Given the description of an element on the screen output the (x, y) to click on. 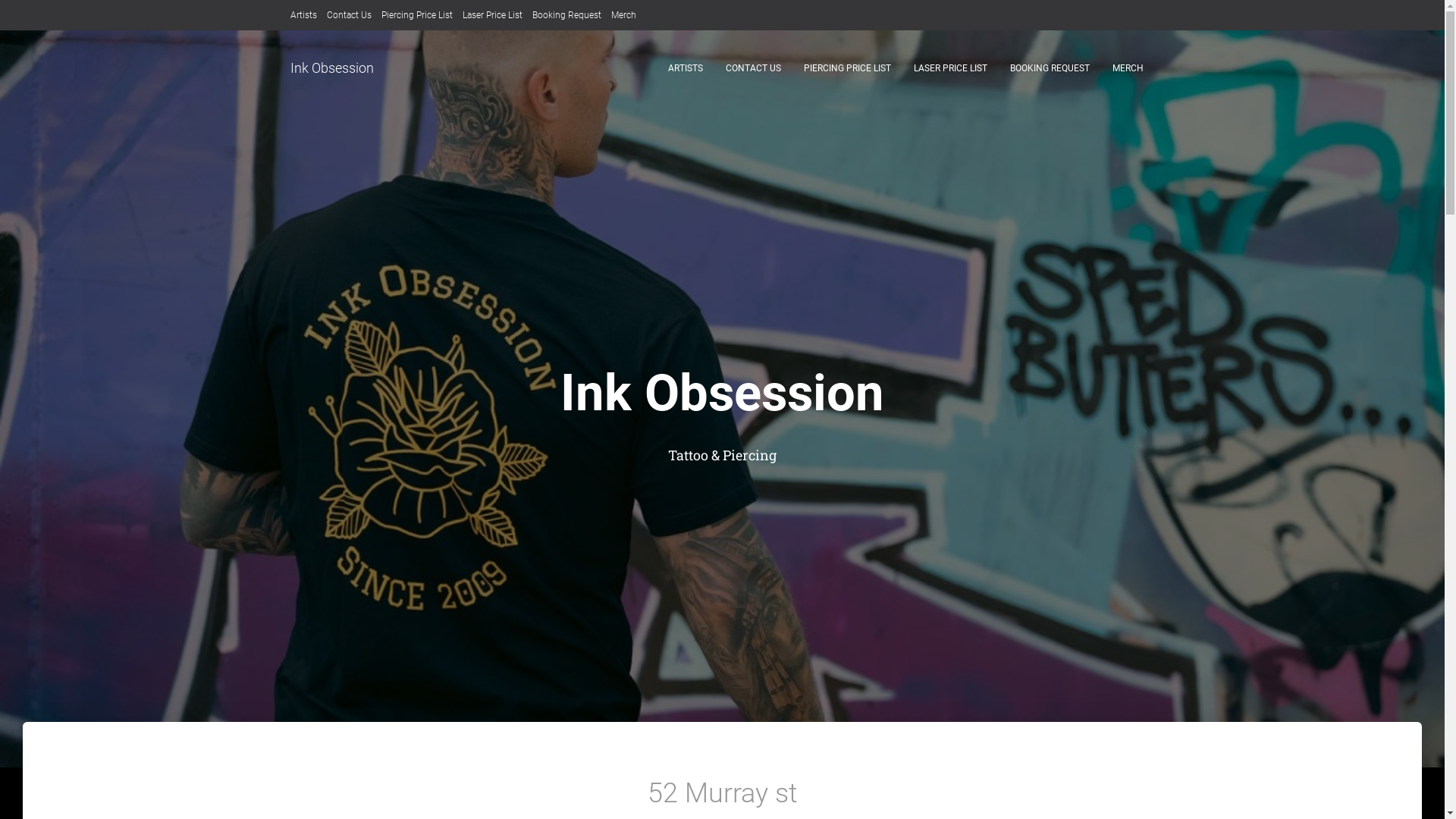
Piercing Price List Element type: text (415, 15)
CONTACT US Element type: text (753, 68)
Contact Us Element type: text (348, 15)
Artists Element type: text (302, 15)
PIERCING PRICE LIST Element type: text (846, 68)
ARTISTS Element type: text (685, 68)
LASER PRICE LIST Element type: text (950, 68)
BOOKING REQUEST Element type: text (1048, 68)
MERCH Element type: text (1127, 68)
Ink Obsession Element type: text (332, 68)
Laser Price List Element type: text (492, 15)
Booking Request Element type: text (566, 15)
Merch Element type: text (623, 15)
